Given the description of an element on the screen output the (x, y) to click on. 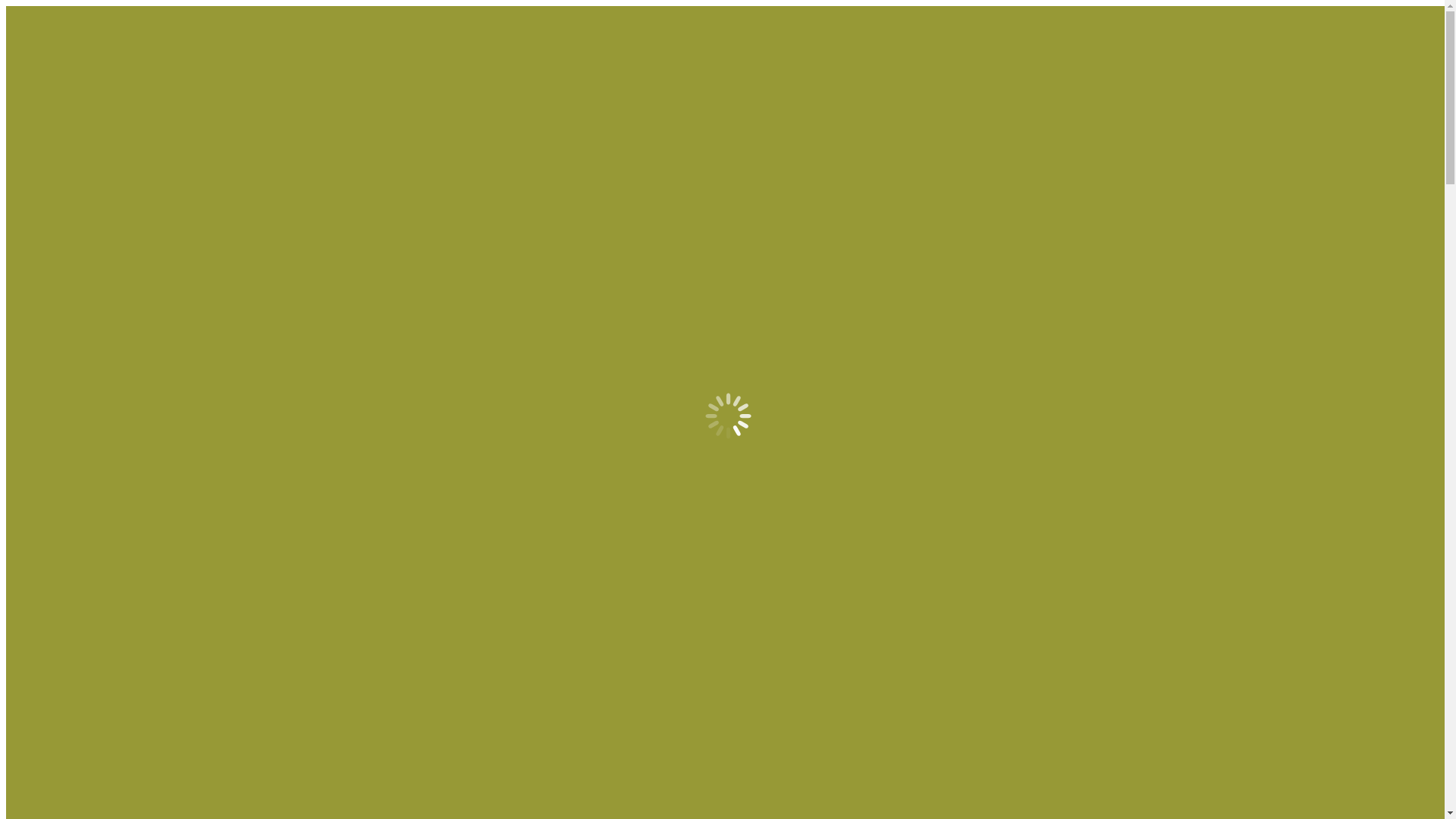
Feedback Element type: text (59, 119)
Services Element type: text (56, 106)
Home Element type: text (50, 78)
Community Element type: text (65, 147)
Skip to content Element type: text (42, 12)
About Us Element type: text (59, 92)
Services Element type: text (56, 213)
Community Element type: text (65, 254)
About Us Element type: text (59, 200)
Home Element type: text (50, 368)
Contact Us Element type: text (63, 160)
Resources Element type: text (61, 241)
Photo Album Element type: text (68, 382)
Resources Element type: text (61, 133)
Home Element type: text (50, 186)
Contact Us Element type: text (63, 268)
Feedback Element type: text (59, 227)
